Given the description of an element on the screen output the (x, y) to click on. 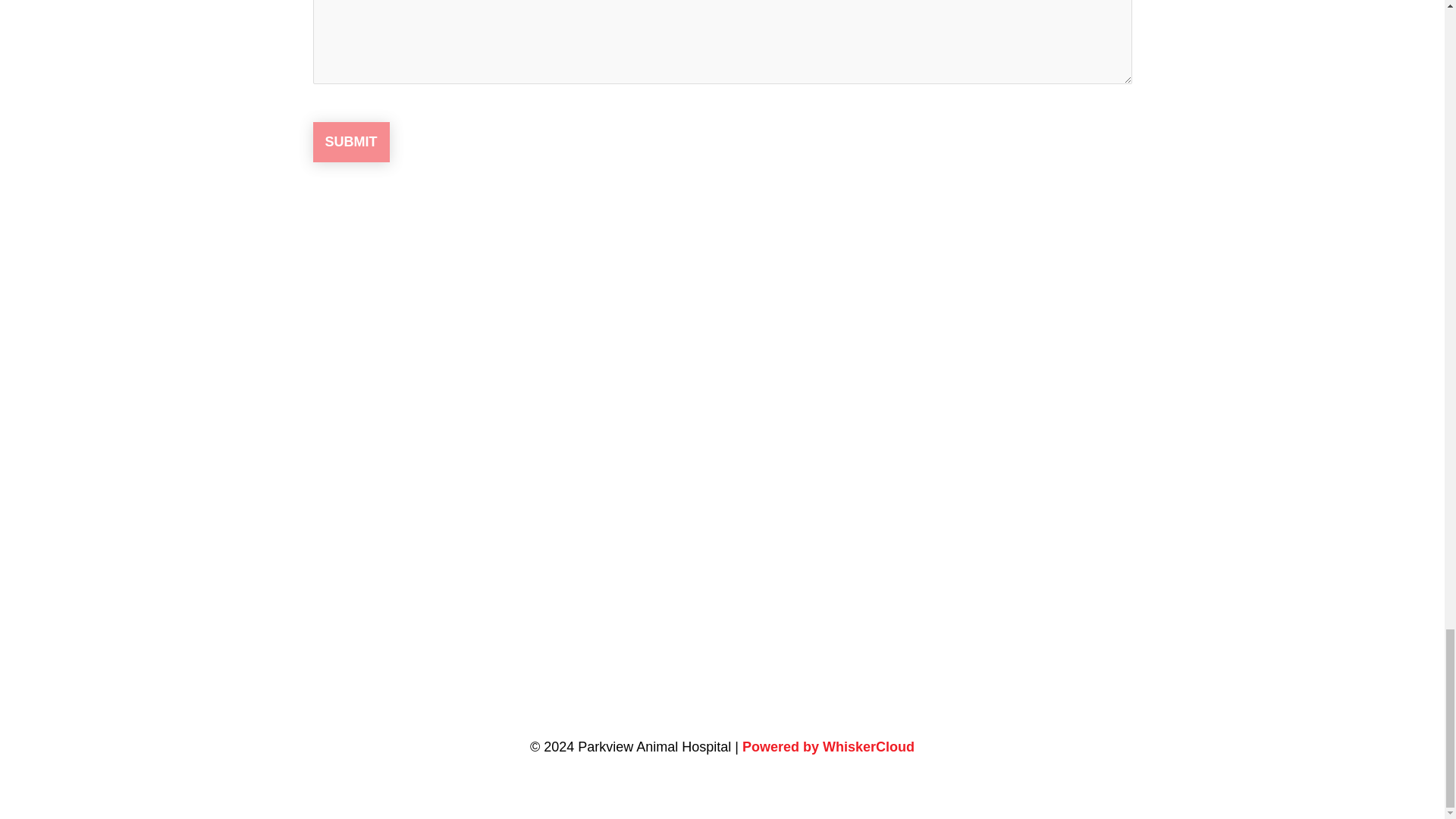
SUBMIT (350, 142)
Powered by WhiskerCloud (828, 746)
